Given the description of an element on the screen output the (x, y) to click on. 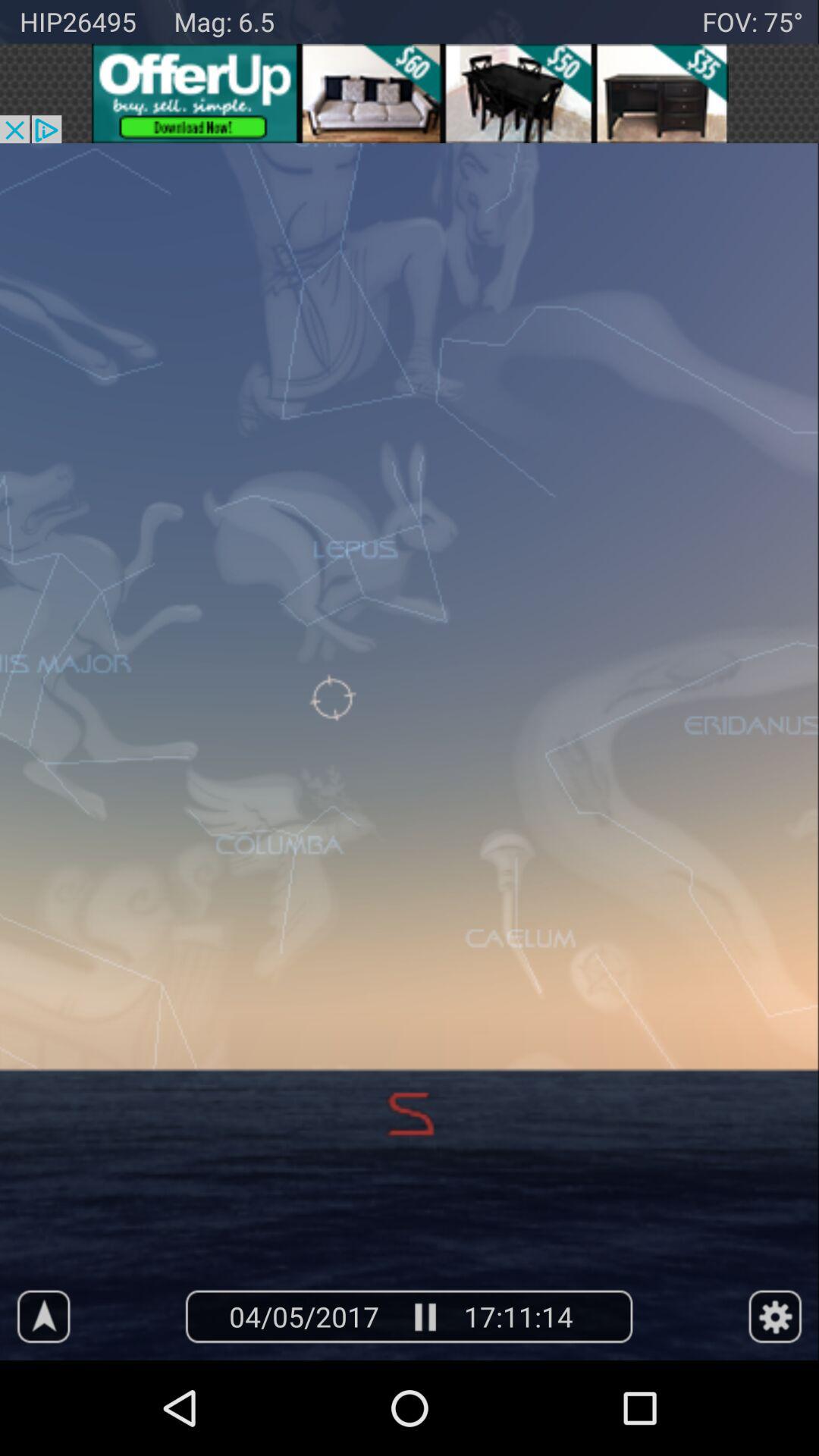
open settings (775, 1316)
